Given the description of an element on the screen output the (x, y) to click on. 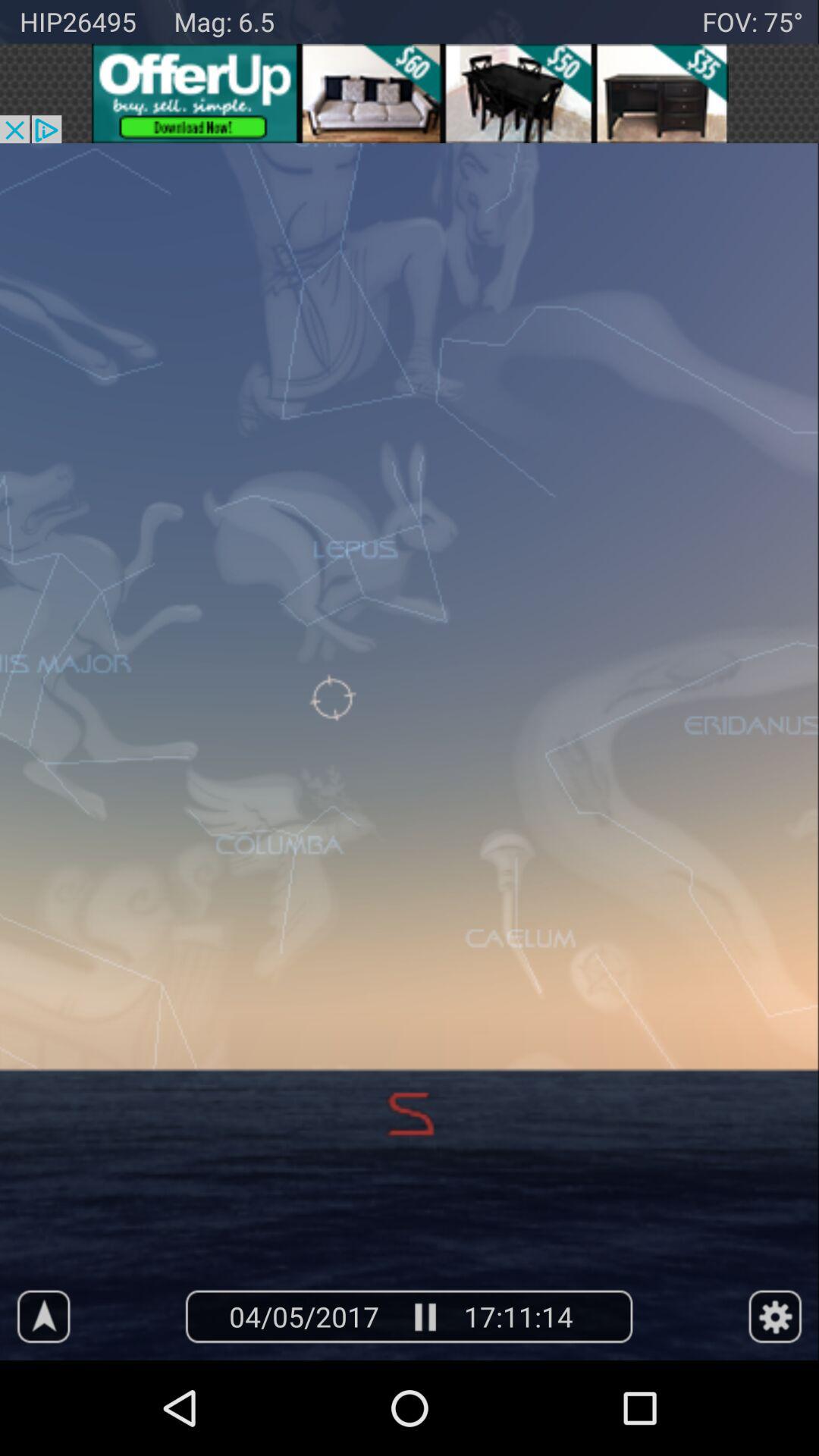
open settings (775, 1316)
